Given the description of an element on the screen output the (x, y) to click on. 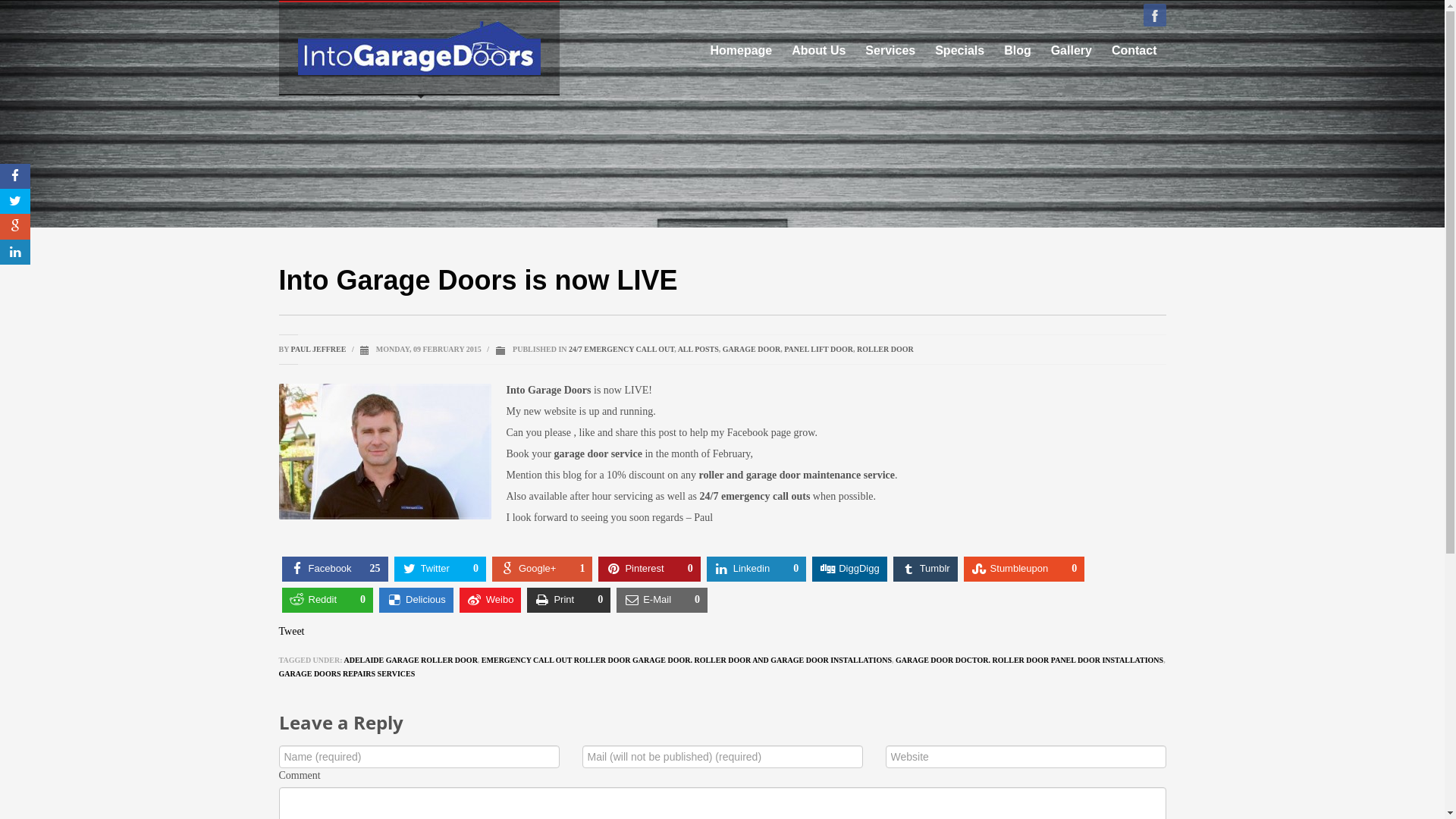
ROLLER DOOR Element type: text (884, 349)
Blog Element type: text (1017, 50)
Tweet Element type: text (291, 631)
Homepage Element type: text (740, 50)
Facebook
25 Element type: text (335, 568)
Delicious Element type: text (416, 599)
Facebook Element type: text (1154, 14)
Services Element type: text (890, 50)
Contact Element type: text (1134, 50)
Twitter
0 Element type: text (440, 568)
ALL POSTS Element type: text (697, 349)
E-Mail
0 Element type: text (661, 599)
PAUL JEFFREE Element type: text (318, 349)
About Us Element type: text (818, 50)
Linkedin
0 Element type: text (756, 568)
Pinterest
0 Element type: text (648, 568)
Tumblr Element type: text (925, 568)
GARAGE DOORS REPAIRS SERVICES Element type: text (347, 673)
Reddit
0 Element type: text (327, 599)
ADELAIDE GARAGE ROLLER DOOR Element type: text (409, 659)
Weibo Element type: text (490, 599)
24/7 EMERGENCY CALL OUT Element type: text (621, 349)
GARAGE DOOR Element type: text (751, 349)
Print
0 Element type: text (568, 599)
PANEL LIFT DOOR Element type: text (818, 349)
Stumbleupon
0 Element type: text (1024, 568)
Gallery Element type: text (1071, 50)
Specials Element type: text (959, 50)
GARAGE DOOR DOCTOR. ROLLER DOOR PANEL DOOR INSTALLATIONS Element type: text (1029, 659)
Google+
1 Element type: text (542, 568)
DiggDigg Element type: text (849, 568)
